Given the description of an element on the screen output the (x, y) to click on. 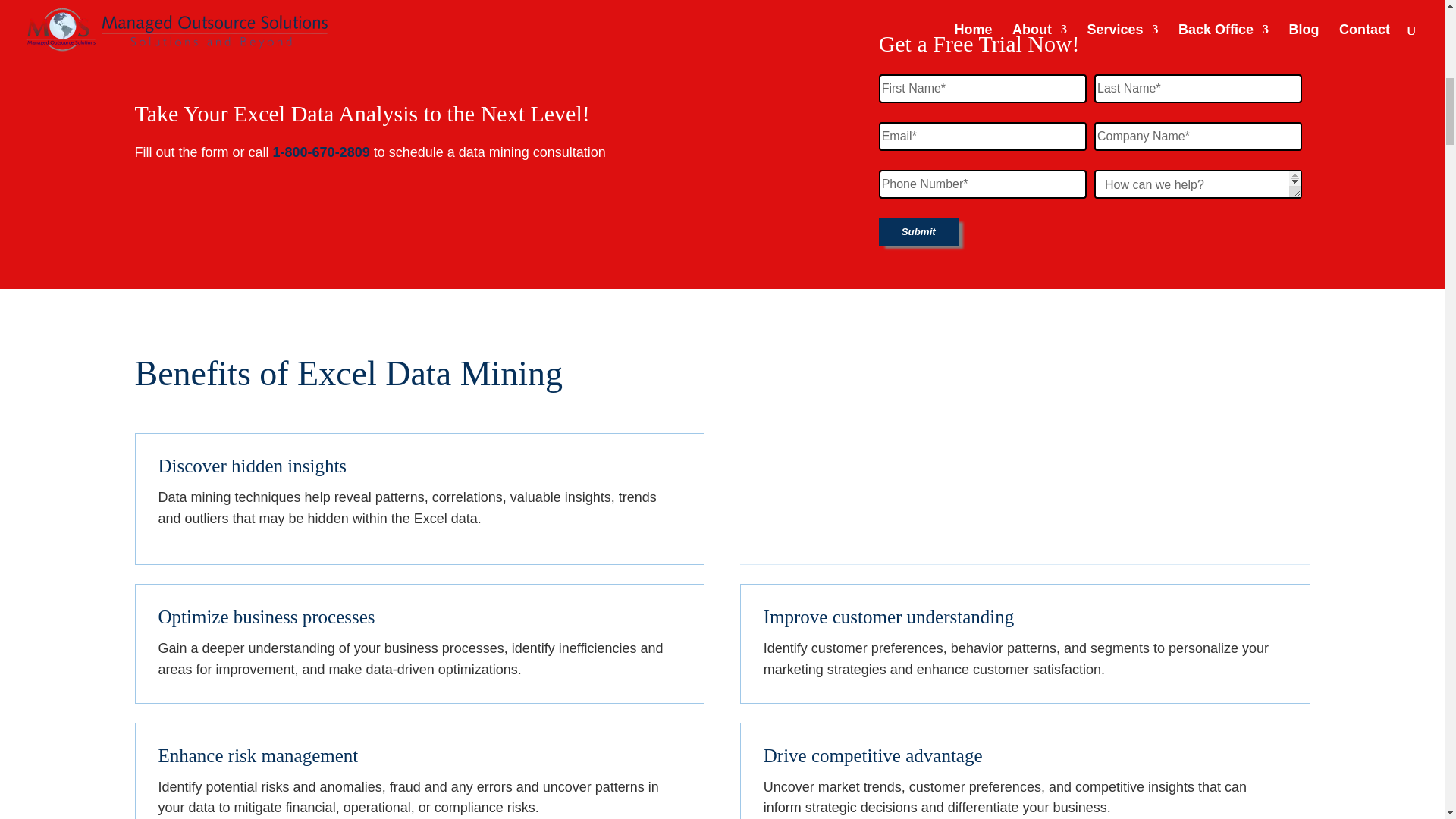
Mining Process (1024, 498)
1-800-670-2809 (321, 151)
Submit (918, 231)
